Given the description of an element on the screen output the (x, y) to click on. 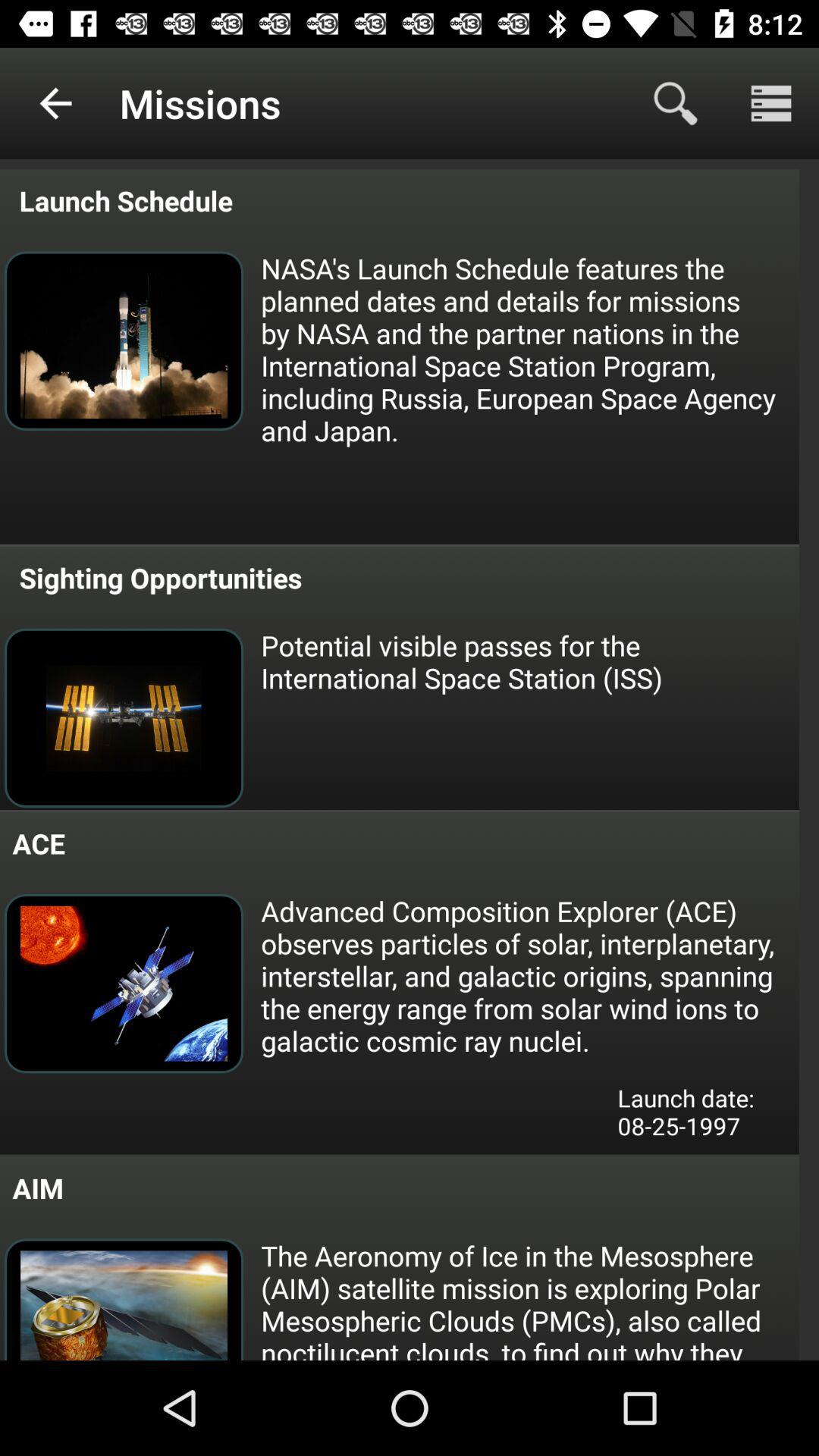
select the item above the  launch schedule (55, 103)
